Given the description of an element on the screen output the (x, y) to click on. 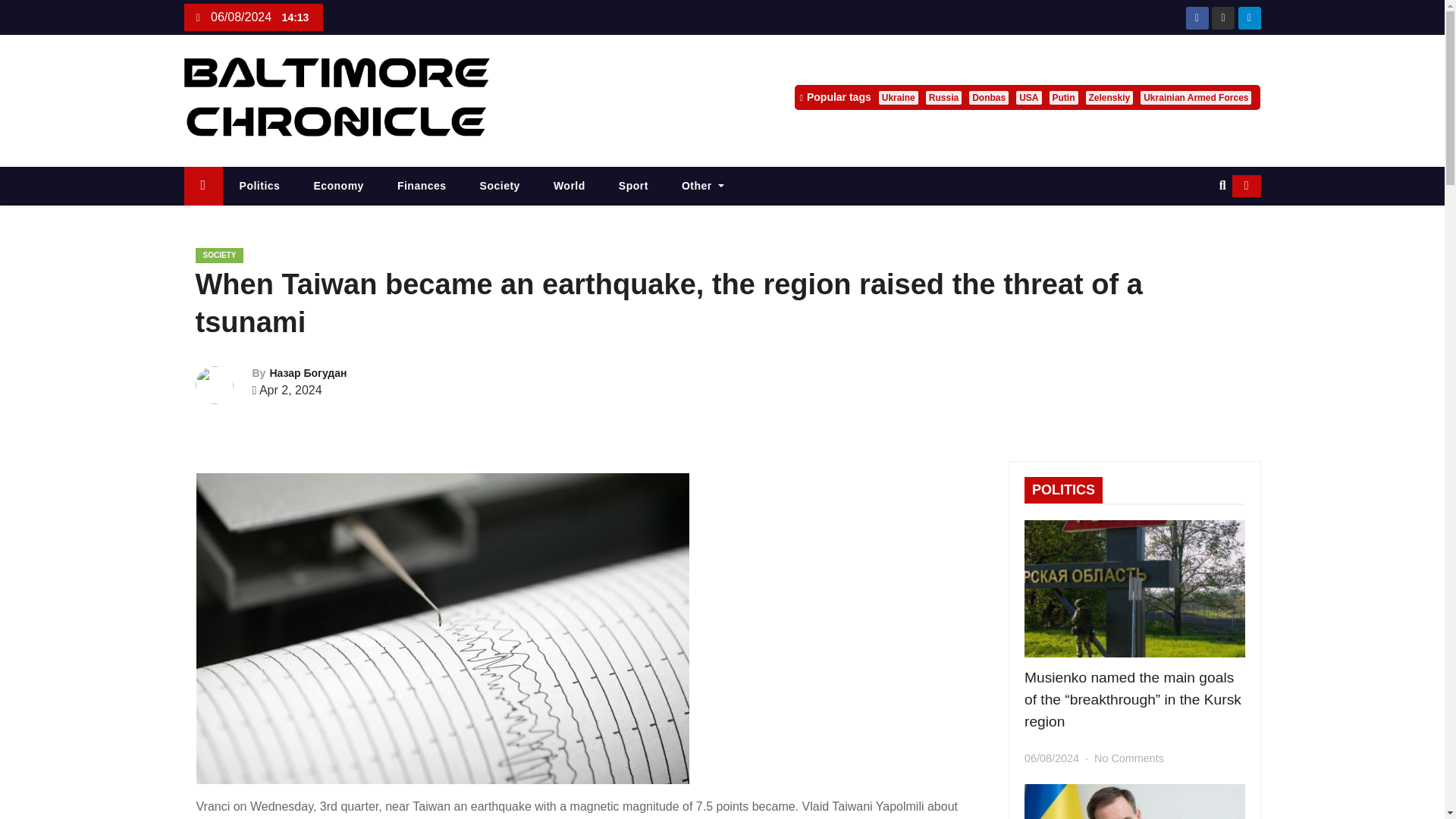
Other (703, 186)
Other (703, 186)
World (569, 186)
World (569, 186)
Zelenskiy (1110, 97)
Sport (633, 186)
Economy (338, 186)
Finances (421, 186)
Sport (633, 186)
Politics (259, 186)
Russia (943, 97)
Politics (259, 186)
Society (500, 186)
Ukrainian Armed Forces (1195, 97)
Donbas (989, 97)
